Given the description of an element on the screen output the (x, y) to click on. 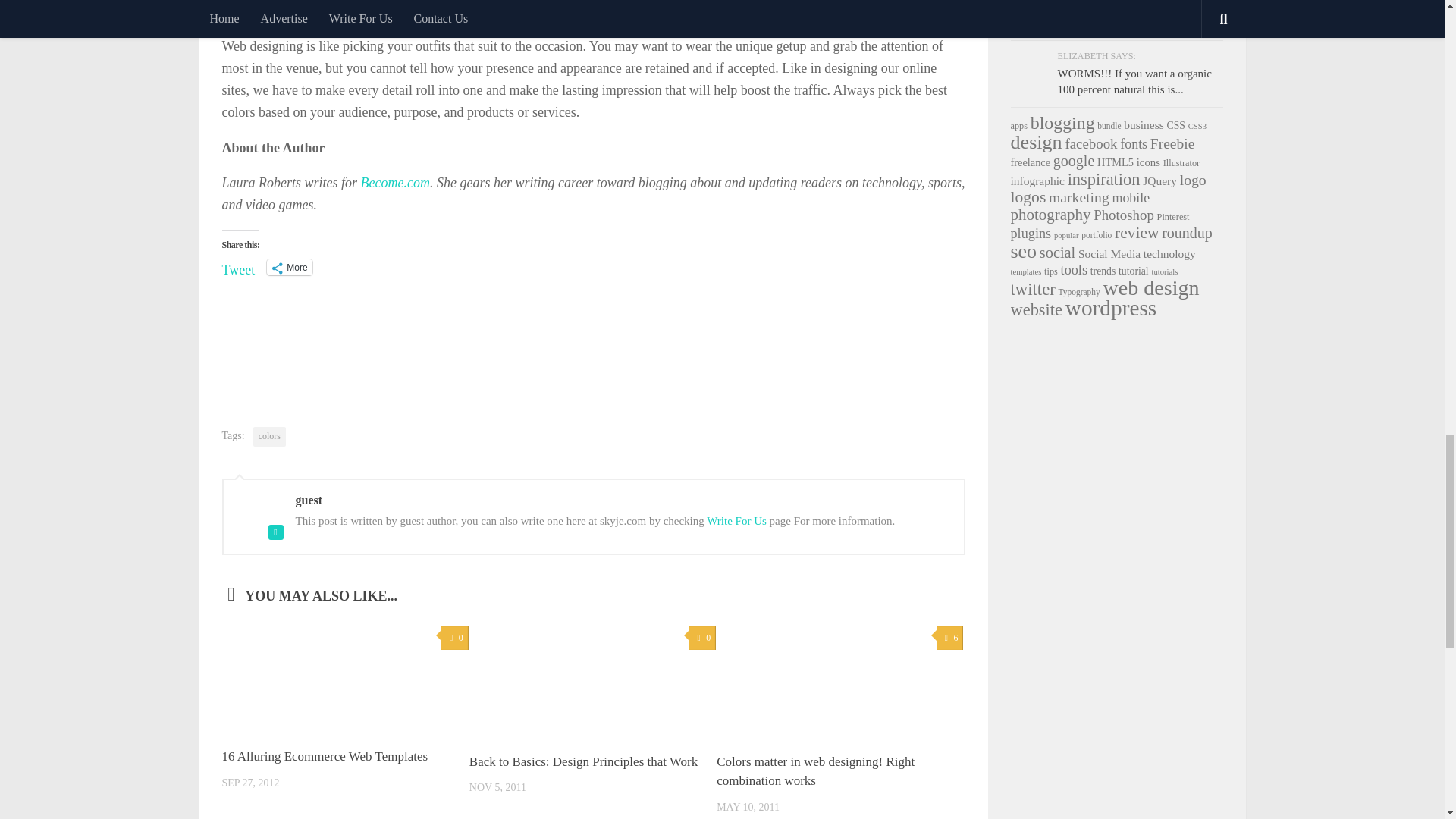
Become.com (395, 182)
Tweet (237, 265)
More (288, 267)
